Given the description of an element on the screen output the (x, y) to click on. 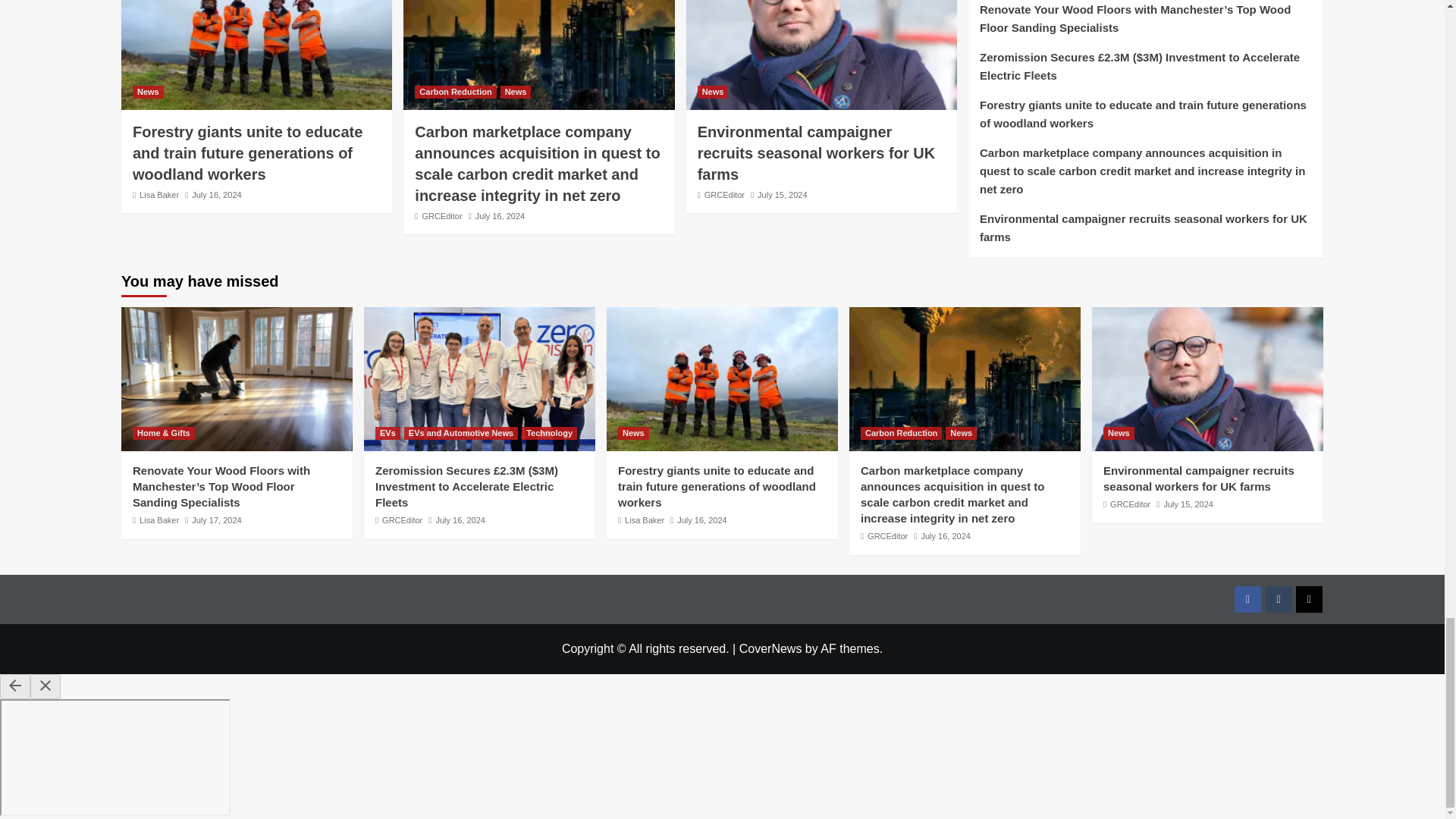
GRCEditor (441, 215)
Carbon Reduction (455, 91)
July 16, 2024 (216, 194)
Lisa Baker (159, 194)
News (147, 91)
News (515, 91)
July 16, 2024 (500, 215)
